Given the description of an element on the screen output the (x, y) to click on. 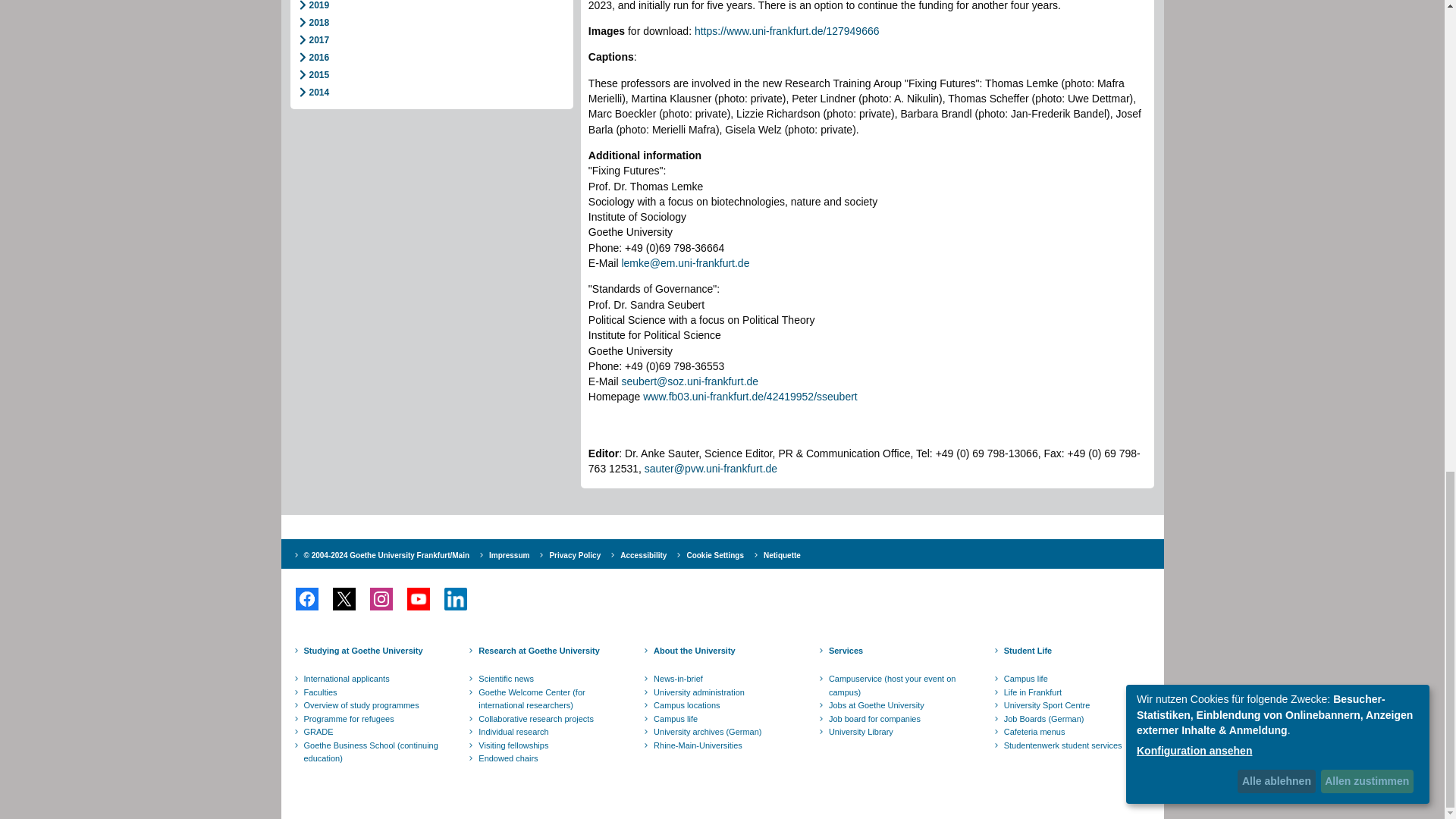
LinkedIn (454, 598)
X (343, 598)
Youtube (418, 598)
Facebook (306, 598)
Instagram (380, 598)
